Given the description of an element on the screen output the (x, y) to click on. 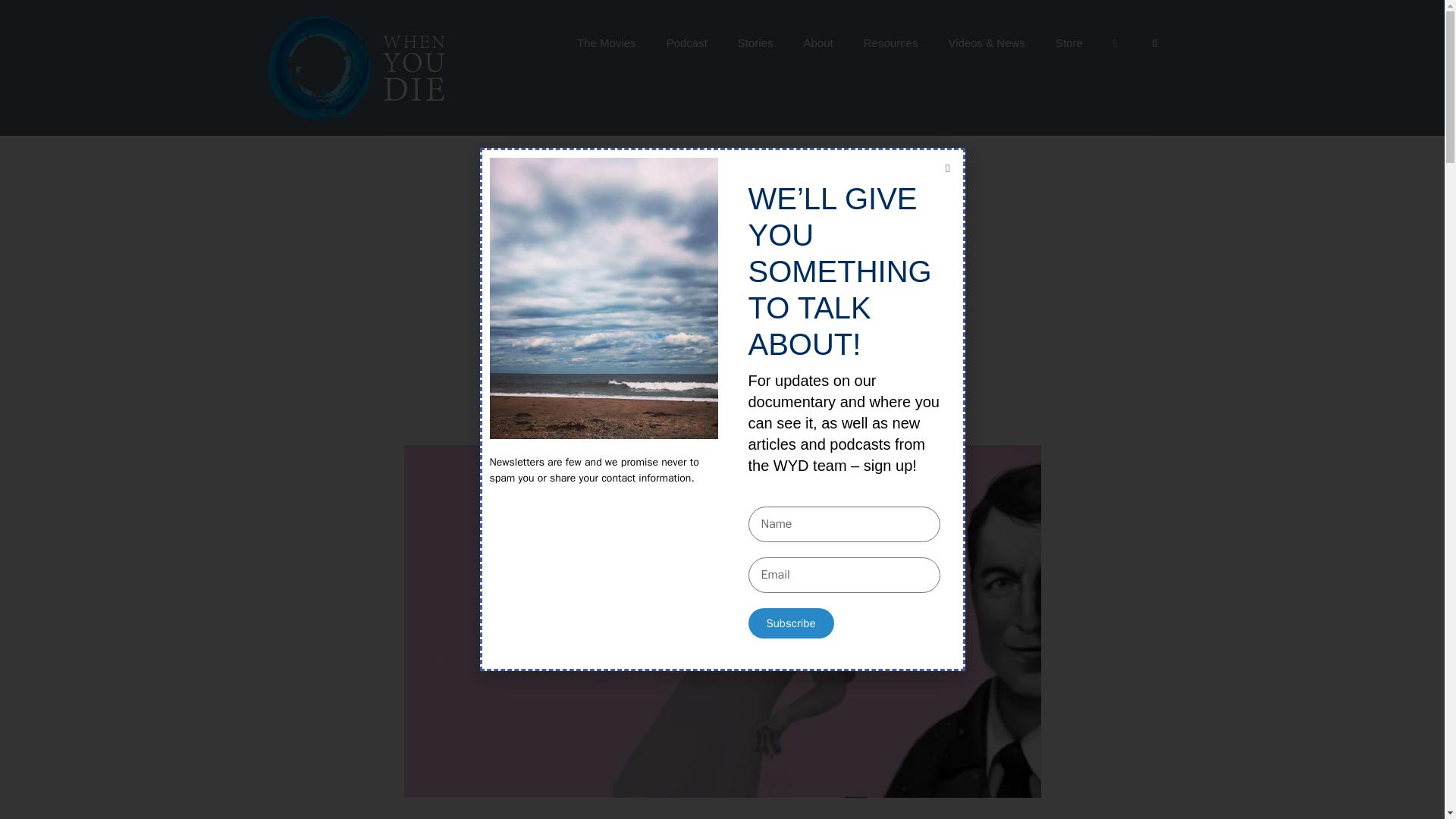
About (818, 43)
Resources (890, 43)
Click to share on Facebook (703, 406)
COMMUNITY (722, 189)
Store (1069, 43)
Podcast (686, 43)
admin (762, 374)
Stories (755, 43)
The Movies (606, 43)
View all posts by admin (762, 374)
Click to share on Twitter (733, 406)
Community (722, 189)
